Given the description of an element on the screen output the (x, y) to click on. 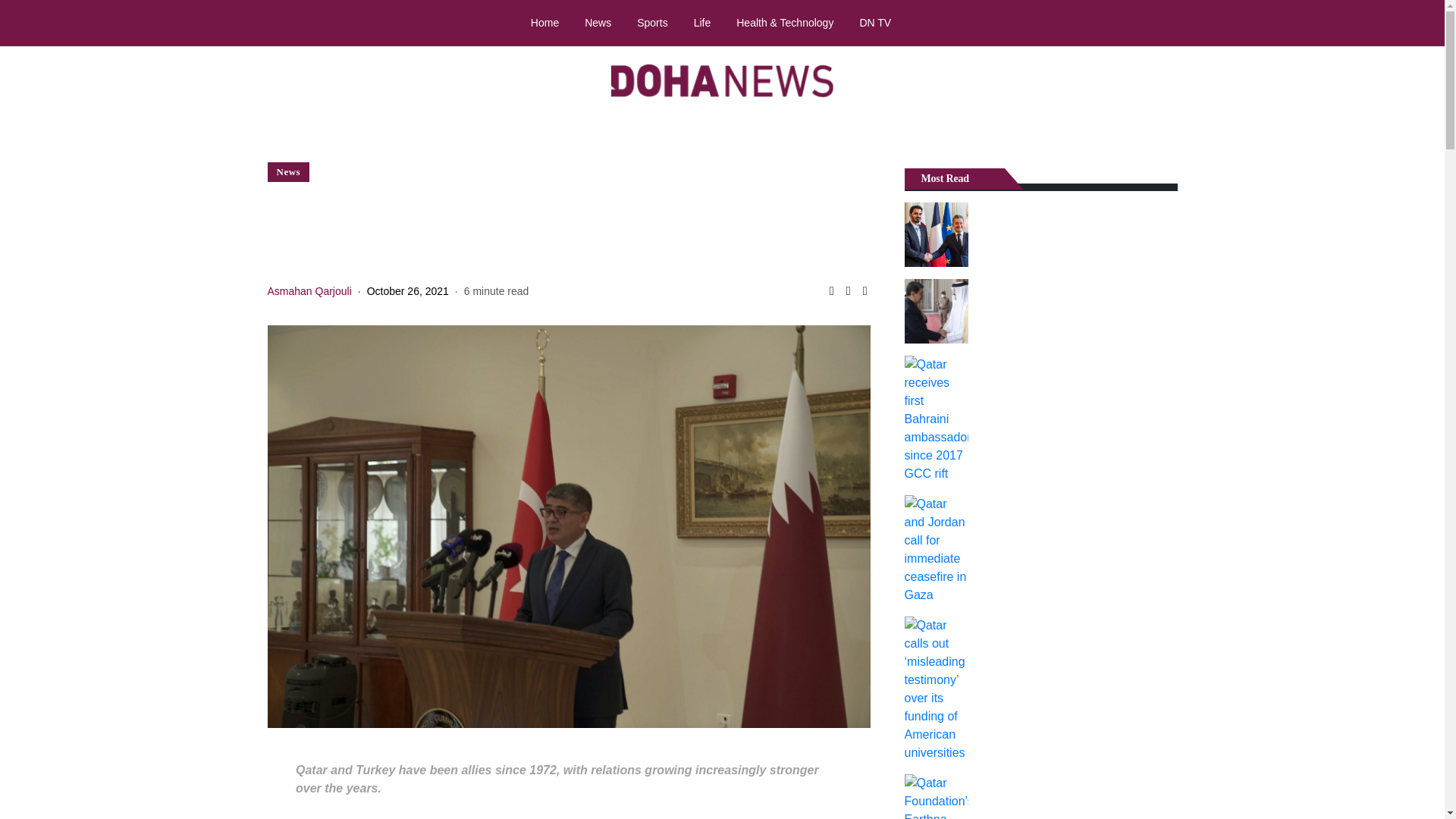
Asmahan Qarjouli (308, 291)
News (287, 171)
View all posts by Asmahan Qarjouli (308, 291)
News (598, 22)
Home (545, 22)
Search (1417, 23)
Sports (651, 22)
DN TV (875, 22)
October 26, 2021 (407, 291)
Life (702, 22)
